Given the description of an element on the screen output the (x, y) to click on. 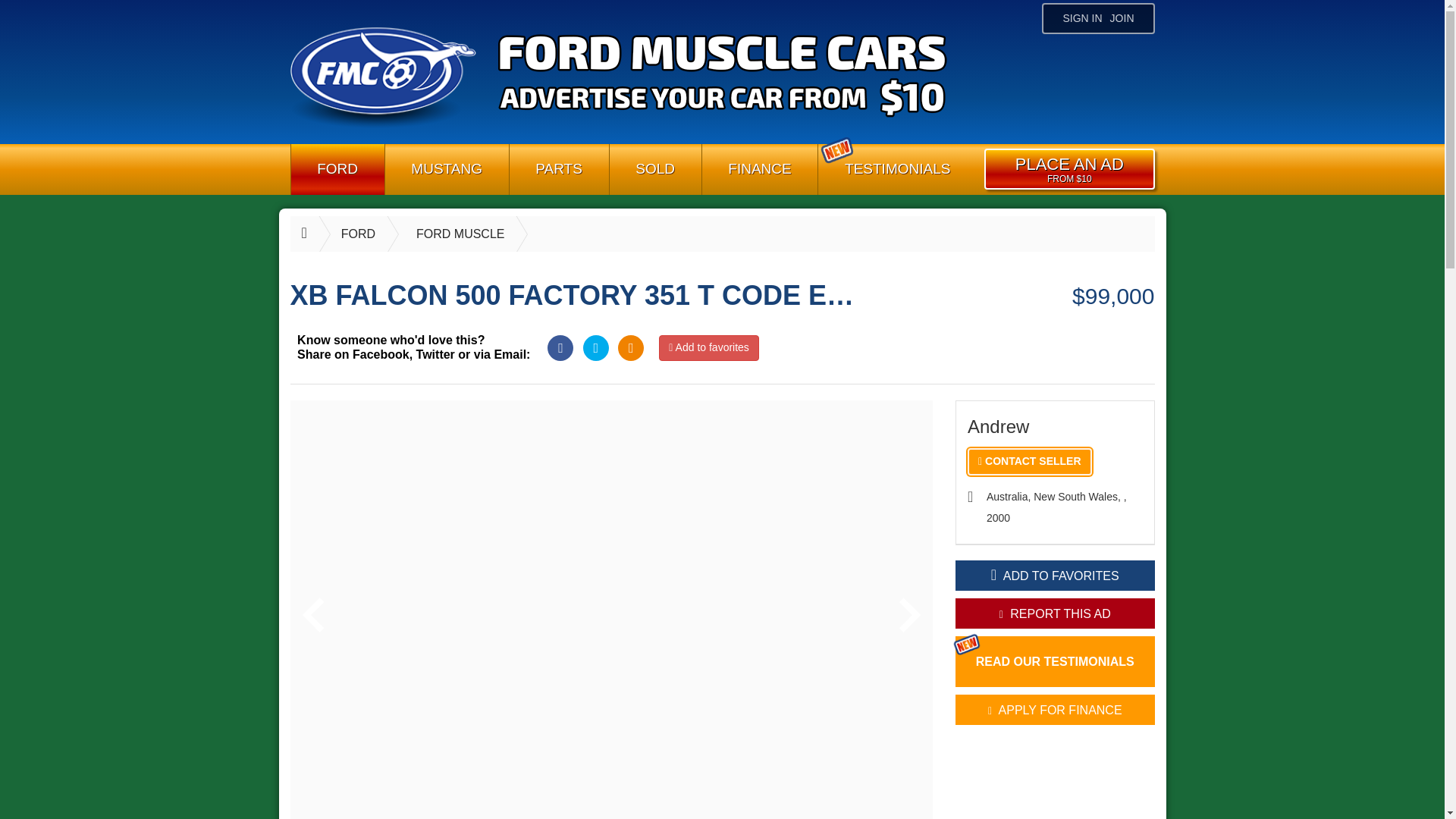
FORD (337, 169)
Add to favorites (708, 347)
FORD MUSCLE (442, 233)
READ OUR TESTIMONIALS (1054, 661)
TESTIMONIALS (897, 169)
REPORT THIS AD (1054, 613)
ADD TO FAVORITES (1054, 575)
PARTS (558, 169)
SOLD (655, 169)
SIGN IN (1081, 18)
APPLY FOR FINANCE (1054, 709)
CONTACT SELLER (1030, 461)
MUSTANG (446, 169)
FORD (341, 233)
FINANCE (759, 169)
